Given the description of an element on the screen output the (x, y) to click on. 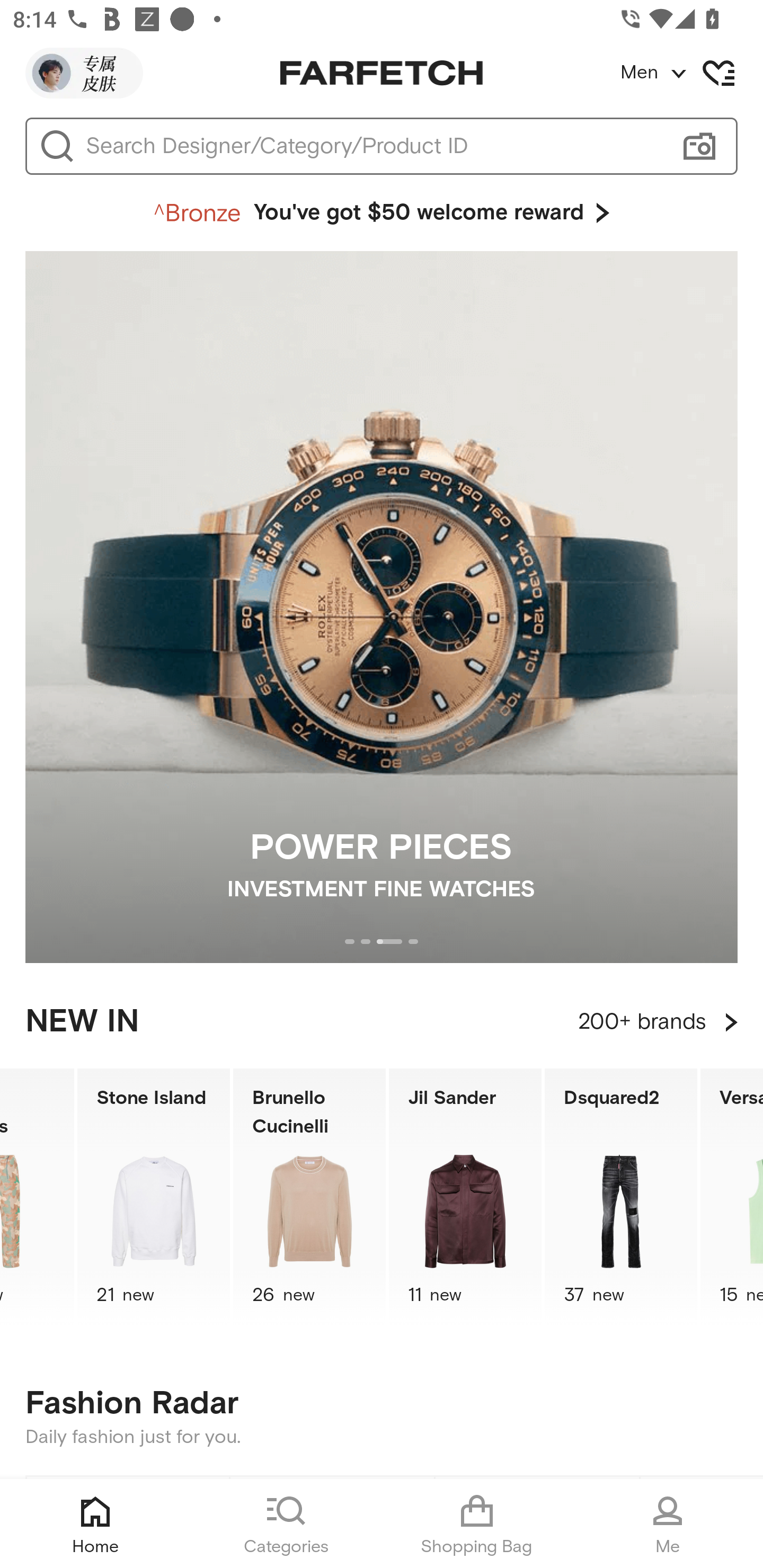
Men (691, 72)
Search Designer/Category/Product ID (373, 146)
You've got $50 welcome reward (381, 213)
NEW IN 200+ brands (381, 1021)
Stone Island 21  new (153, 1196)
Brunello Cucinelli 26  new (309, 1196)
Jil Sander 11  new (465, 1196)
Dsquared2 37  new (620, 1196)
Categories (285, 1523)
Shopping Bag (476, 1523)
Me (667, 1523)
